Given the description of an element on the screen output the (x, y) to click on. 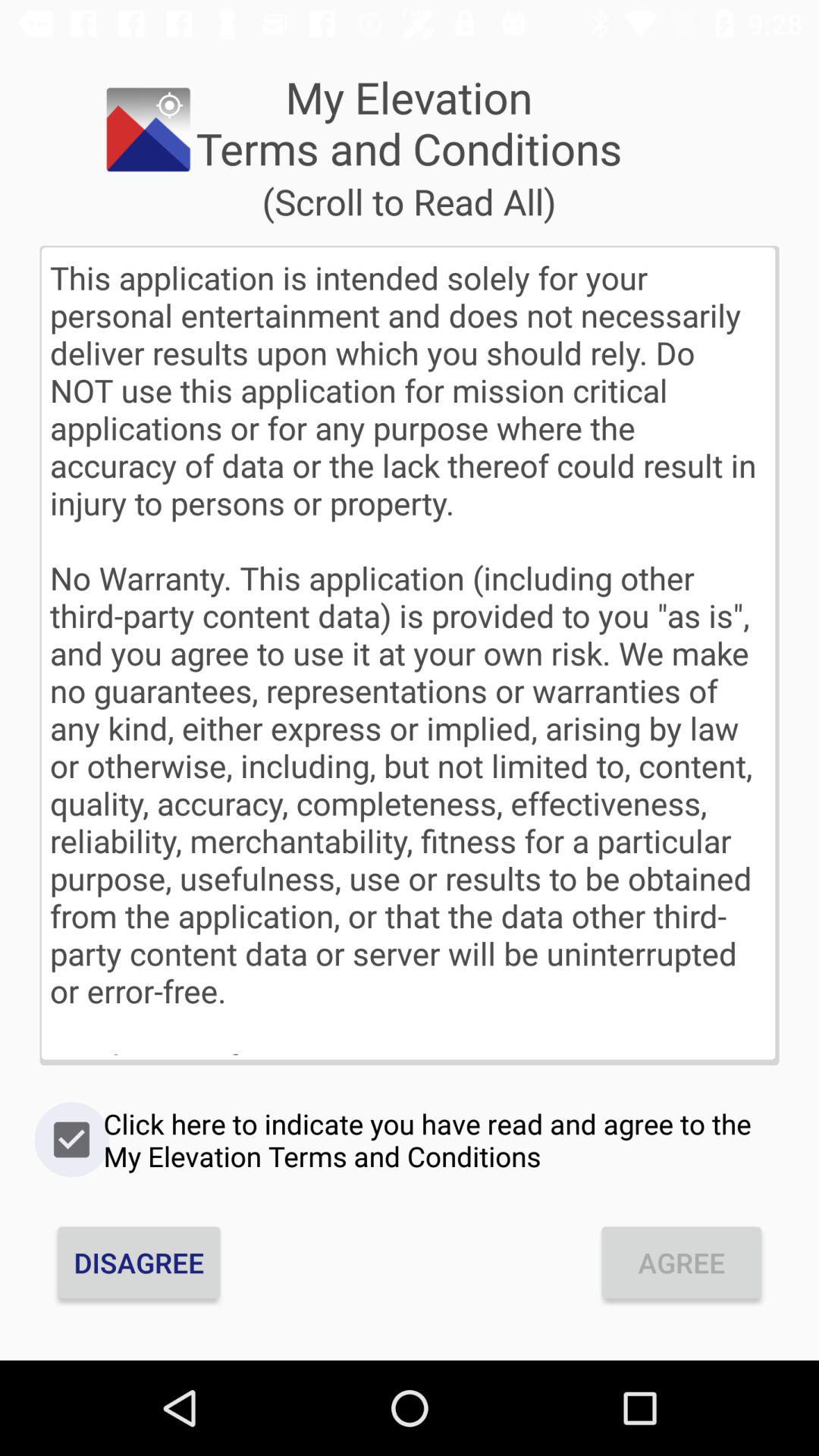
turn off the icon next to agree icon (139, 1262)
